Given the description of an element on the screen output the (x, y) to click on. 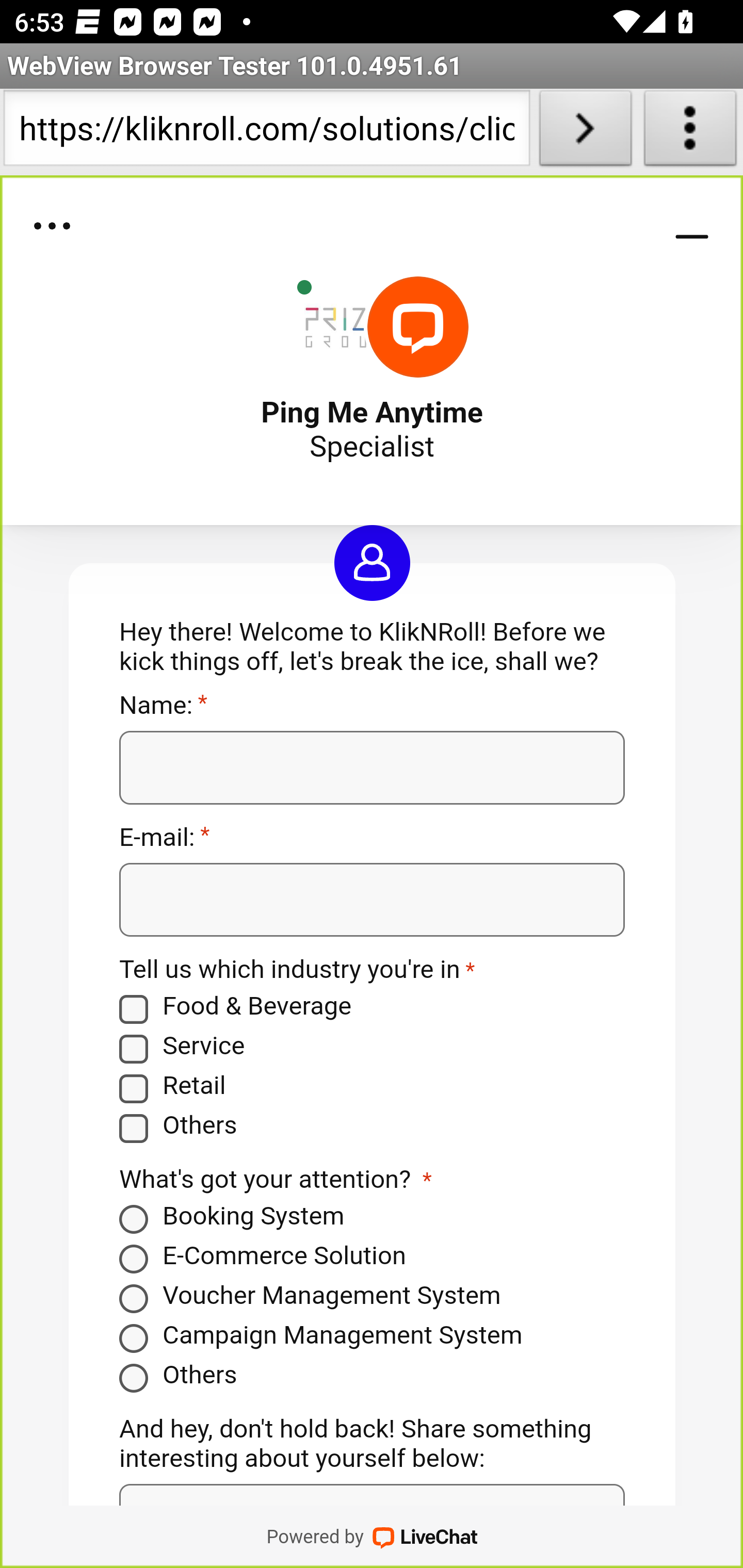
https://kliknroll.com/solutions/click2gift/ (266, 132)
Load URL (585, 132)
About WebView (690, 132)
